Given the description of an element on the screen output the (x, y) to click on. 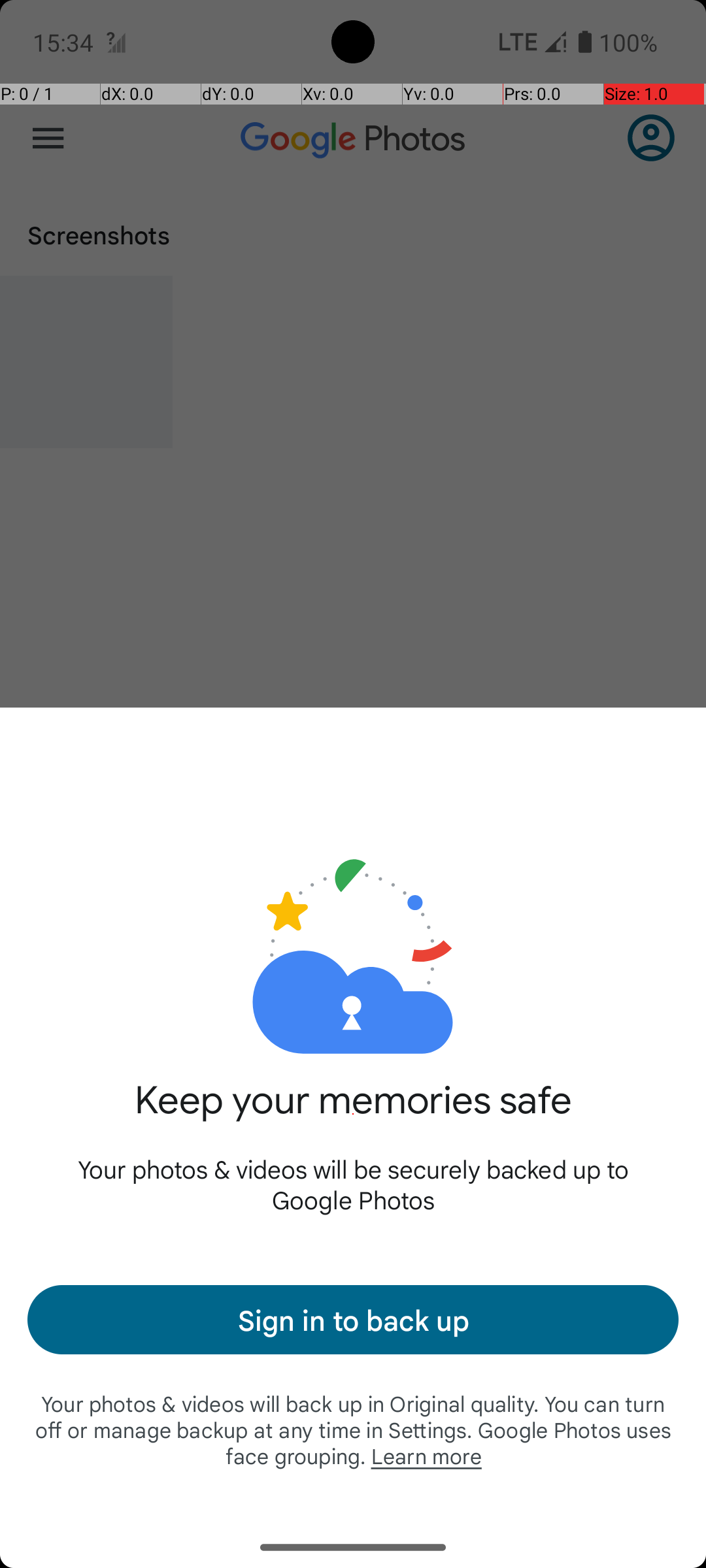
Photos and videos stored in a cloud Element type: android.widget.ImageView (352, 913)
Keep your memories safe Element type: android.widget.TextView (352, 1113)
Your photos & videos will be securely backed up to Google Photos Element type: android.widget.TextView (352, 1183)
Sign in to back up Element type: android.widget.Button (352, 1319)
Your photos & videos will back up in Original quality. You can turn off or manage backup at any time in Settings. Google Photos uses face grouping. Learn more Element type: android.widget.TextView (352, 1429)
Android System notification: Sign in to network Element type: android.widget.ImageView (115, 41)
